Given the description of an element on the screen output the (x, y) to click on. 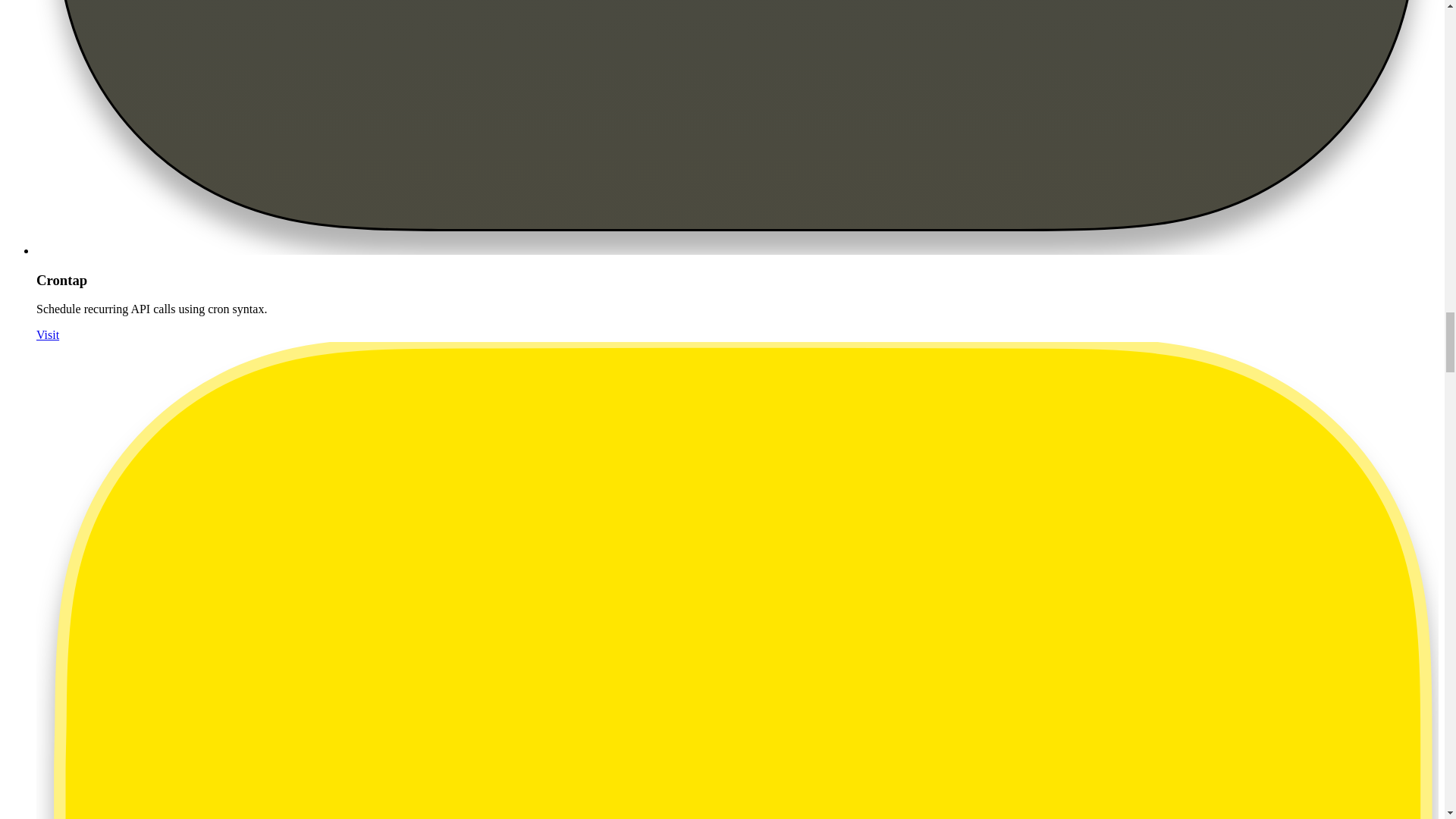
Visit (47, 334)
